Given the description of an element on the screen output the (x, y) to click on. 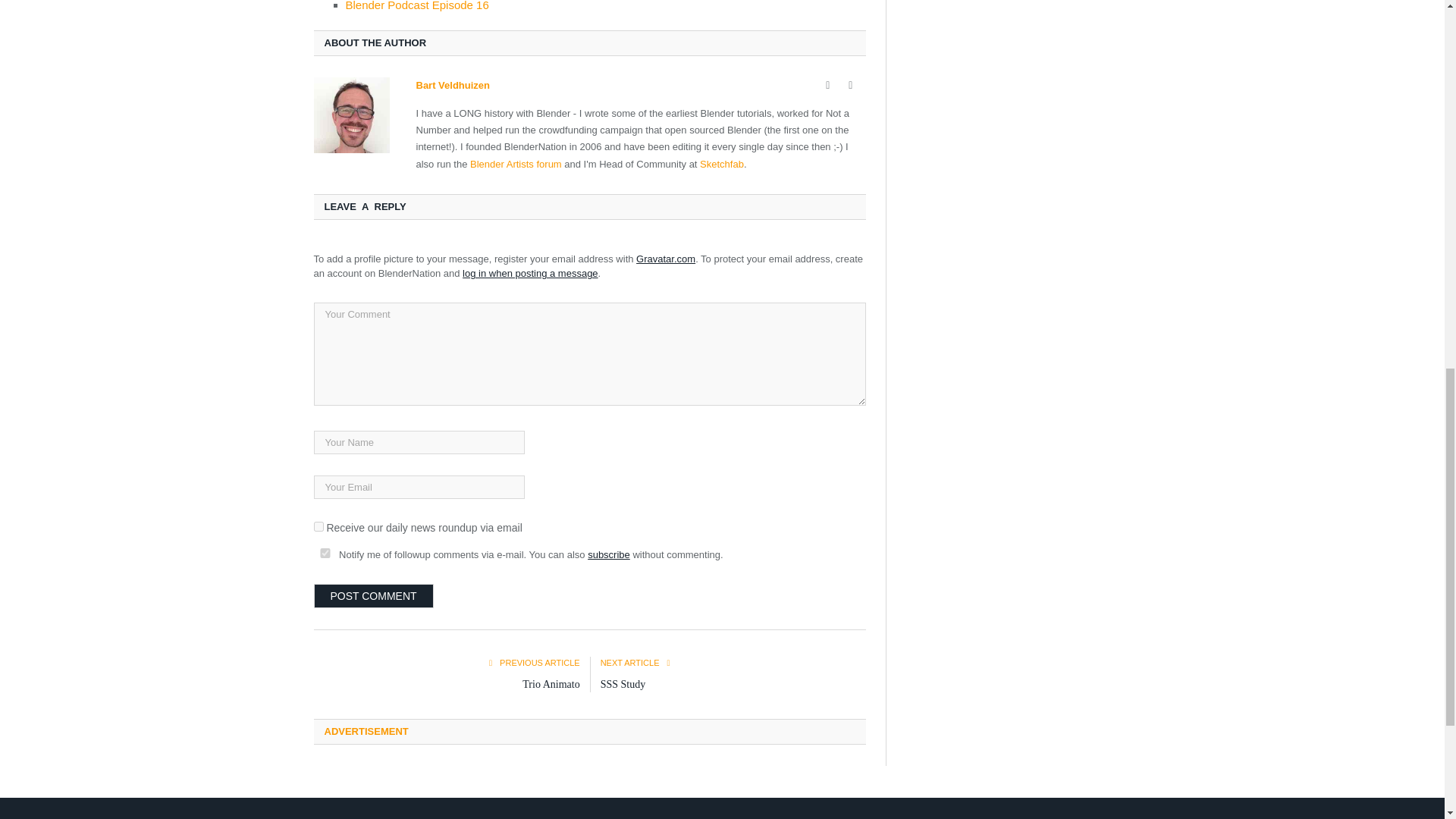
Website (828, 85)
yes (325, 552)
Blender Podcast Episode 16 (417, 5)
1 (318, 526)
Twitter (851, 85)
Bart Veldhuizen (451, 84)
Post Comment (373, 595)
